Given the description of an element on the screen output the (x, y) to click on. 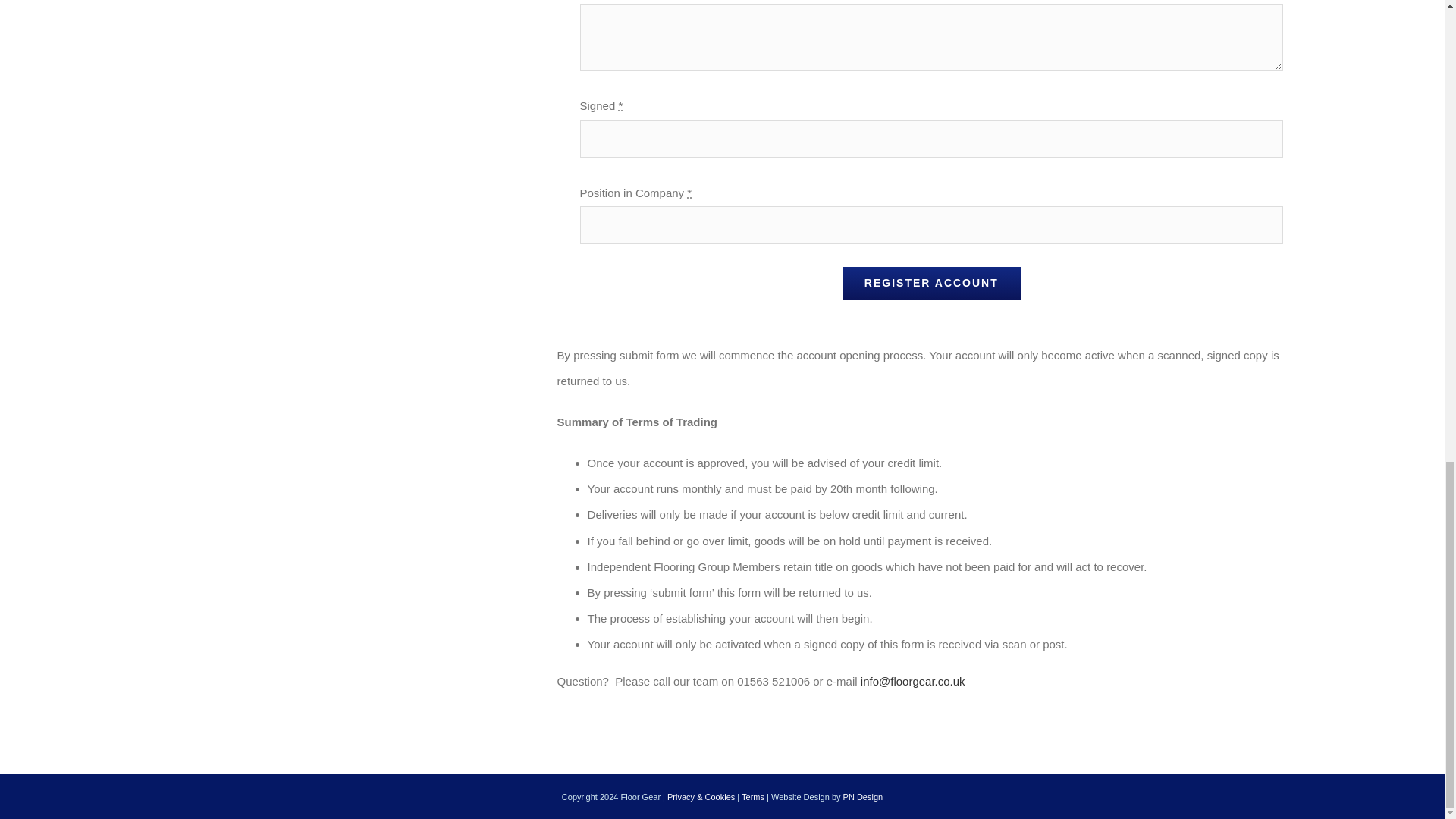
REGISTER ACCOUNT (931, 282)
Terms (752, 796)
PN Design (863, 796)
